Given the description of an element on the screen output the (x, y) to click on. 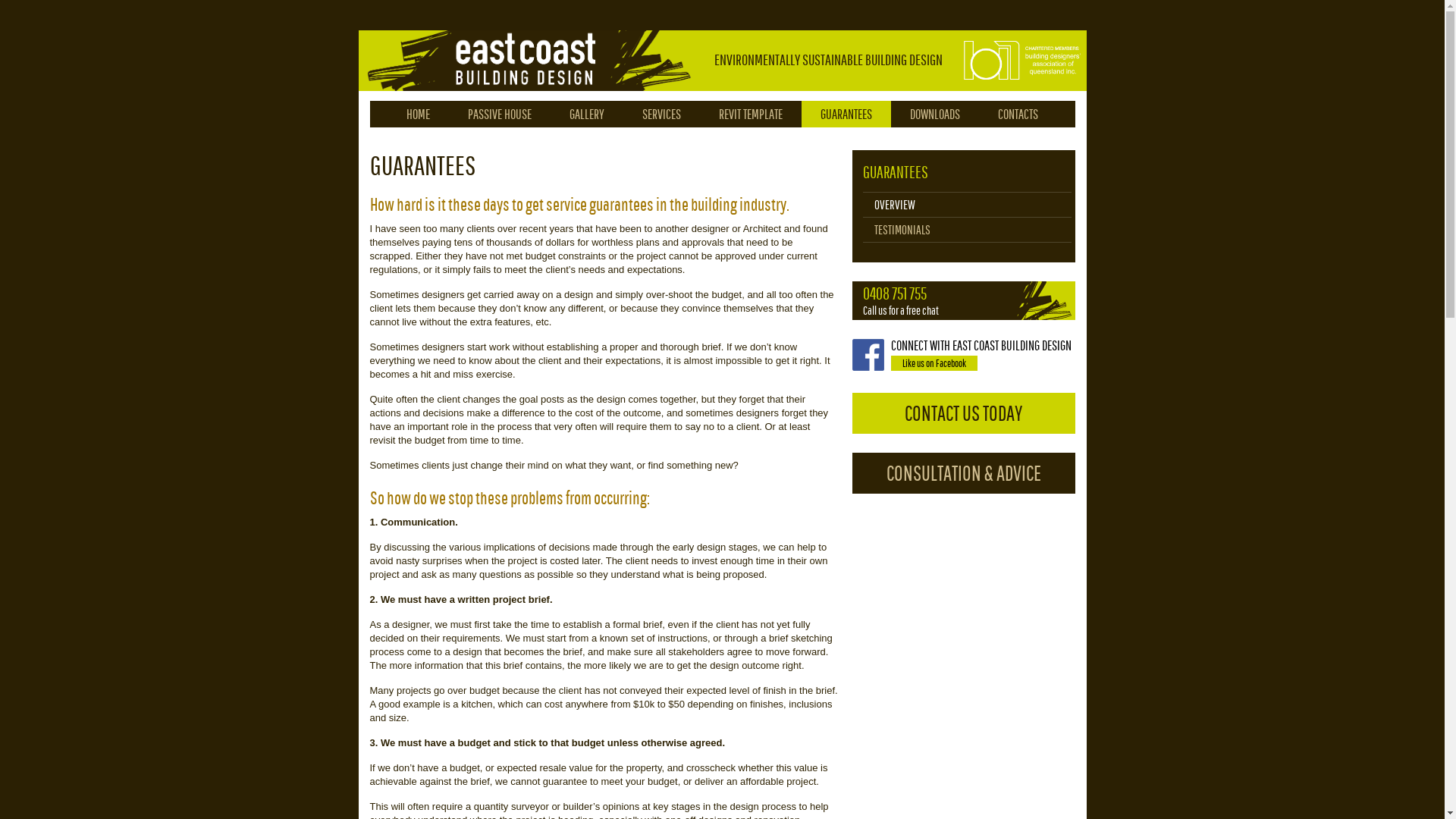
HOME Element type: text (417, 113)
PASSIVE HOUSE Element type: text (499, 113)
GUARANTEES Element type: text (895, 171)
TESTIMONIALS Element type: text (901, 229)
Like us on Facebook Element type: text (933, 362)
SERVICES Element type: text (661, 113)
GUARANTEES Element type: text (846, 113)
CONTACT US TODAY Element type: text (963, 412)
CONTACTS Element type: text (1018, 113)
0408 751 755
Call us for a free chat Element type: text (963, 300)
CONSULTATION & ADVICE Element type: text (963, 472)
GALLERY Element type: text (586, 113)
REVIT TEMPLATE Element type: text (750, 113)
DOWNLOADS Element type: text (935, 113)
OVERVIEW Element type: text (893, 204)
